Given the description of an element on the screen output the (x, y) to click on. 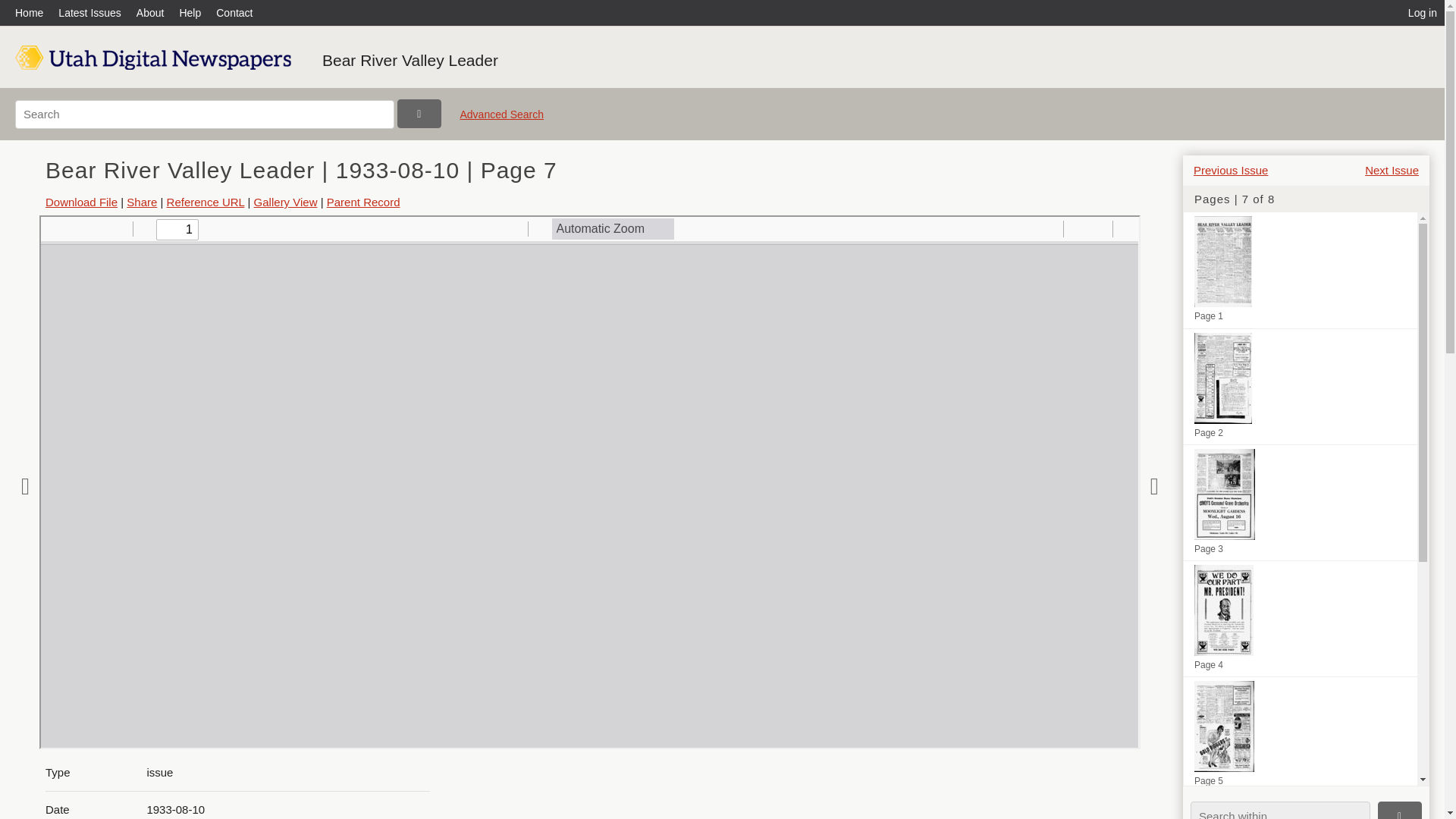
Download File (81, 201)
Latest Issues (89, 12)
Reference URL (205, 201)
About (150, 12)
Page 5 (1299, 734)
Help (189, 12)
Bear River Valley Leader (409, 59)
Page 4 (1299, 618)
Page 1 (1299, 269)
Parent Record (363, 201)
Share (141, 201)
Page 6 (1299, 806)
Gallery View (285, 201)
Contact (234, 12)
Download - 521.4K (81, 201)
